Given the description of an element on the screen output the (x, y) to click on. 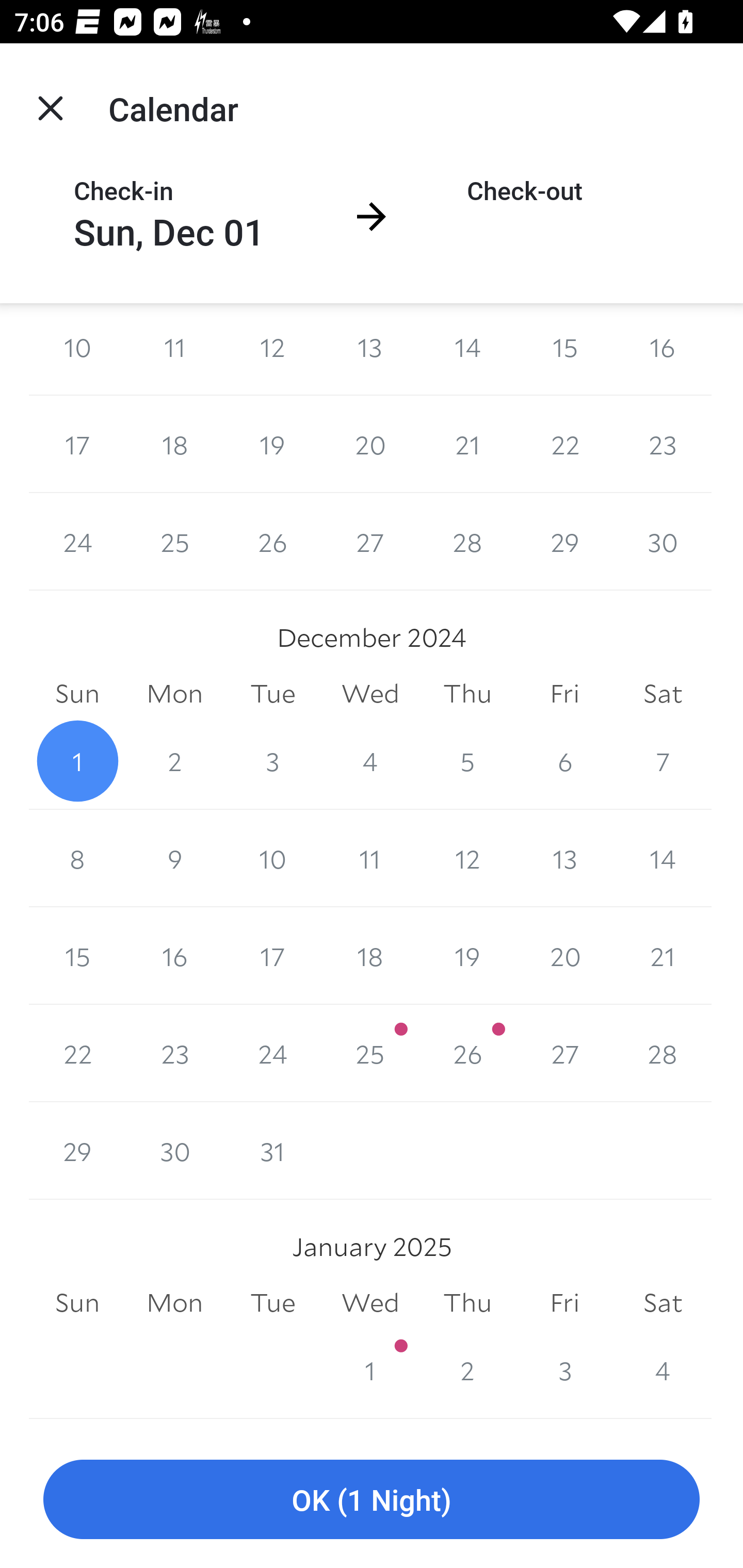
10 10 November 2024 (77, 348)
11 11 November 2024 (174, 348)
12 12 November 2024 (272, 348)
13 13 November 2024 (370, 348)
14 14 November 2024 (467, 348)
15 15 November 2024 (564, 348)
16 16 November 2024 (662, 348)
17 17 November 2024 (77, 443)
18 18 November 2024 (174, 443)
19 19 November 2024 (272, 443)
20 20 November 2024 (370, 443)
21 21 November 2024 (467, 443)
22 22 November 2024 (564, 443)
23 23 November 2024 (662, 443)
24 24 November 2024 (77, 541)
25 25 November 2024 (174, 541)
26 26 November 2024 (272, 541)
27 27 November 2024 (370, 541)
28 28 November 2024 (467, 541)
29 29 November 2024 (564, 541)
30 30 November 2024 (662, 541)
Sun (77, 693)
Mon (174, 693)
Tue (272, 693)
Wed (370, 693)
Thu (467, 693)
Fri (564, 693)
Sat (662, 693)
1 1 December 2024 (77, 760)
2 2 December 2024 (174, 760)
3 3 December 2024 (272, 760)
4 4 December 2024 (370, 760)
5 5 December 2024 (467, 760)
6 6 December 2024 (564, 760)
7 7 December 2024 (662, 760)
8 8 December 2024 (77, 858)
9 9 December 2024 (174, 858)
10 10 December 2024 (272, 858)
11 11 December 2024 (370, 858)
12 12 December 2024 (467, 858)
13 13 December 2024 (564, 858)
14 14 December 2024 (662, 858)
15 15 December 2024 (77, 956)
16 16 December 2024 (174, 956)
17 17 December 2024 (272, 956)
18 18 December 2024 (370, 956)
19 19 December 2024 (467, 956)
20 20 December 2024 (564, 956)
21 21 December 2024 (662, 956)
